Given the description of an element on the screen output the (x, y) to click on. 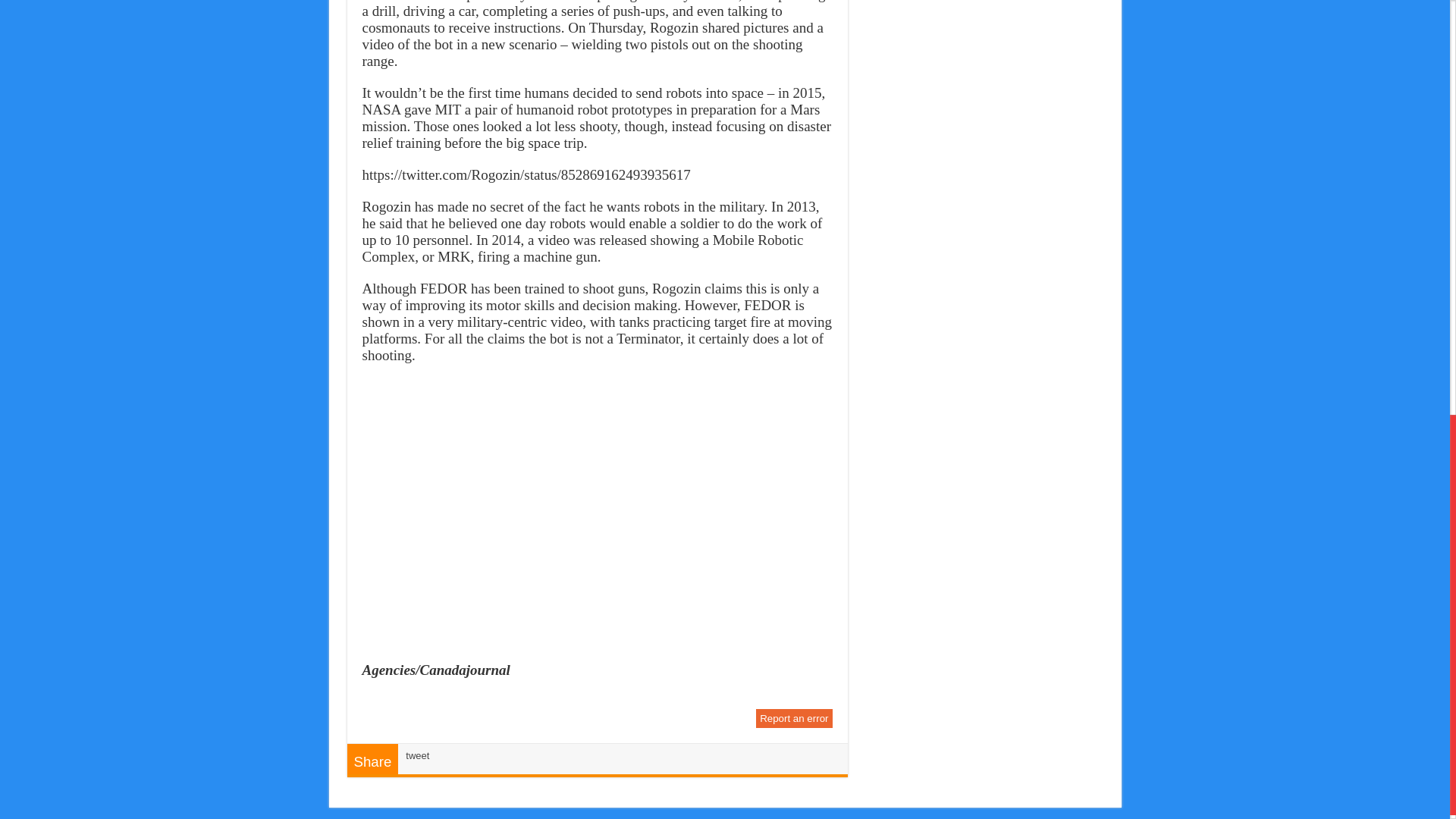
Russian Robot FEDOR Learns To Shoot Glocks (596, 510)
Report an error (793, 718)
tweet (417, 755)
